Given the description of an element on the screen output the (x, y) to click on. 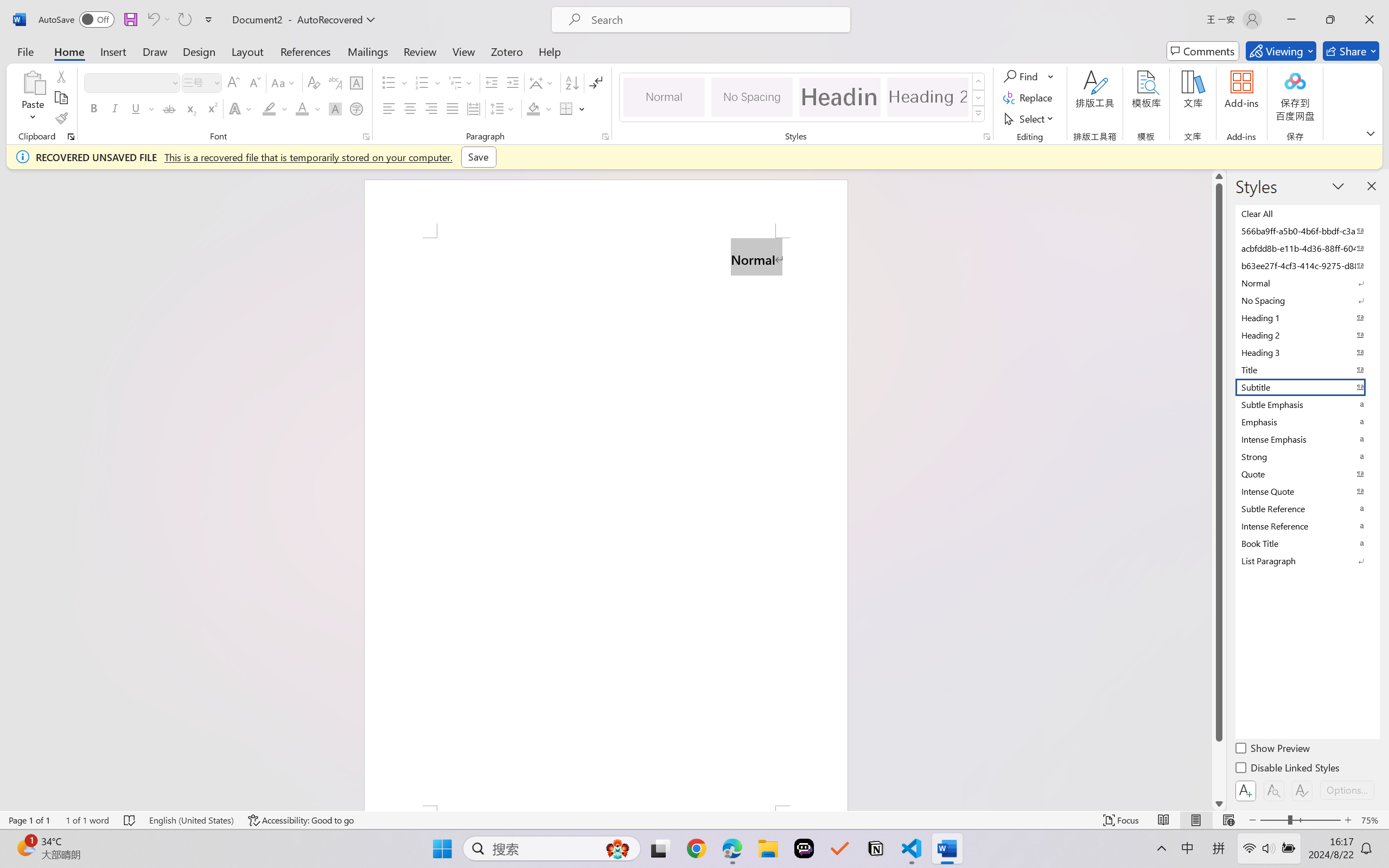
Mode (1280, 50)
Help (549, 51)
Open (215, 82)
Heading 2 (927, 96)
Asian Layout (542, 82)
Font... (365, 136)
Page Number Page 1 of 1 (29, 819)
No Spacing (1306, 300)
Title (1306, 369)
Can't Undo (158, 19)
Row Down (978, 97)
